Given the description of an element on the screen output the (x, y) to click on. 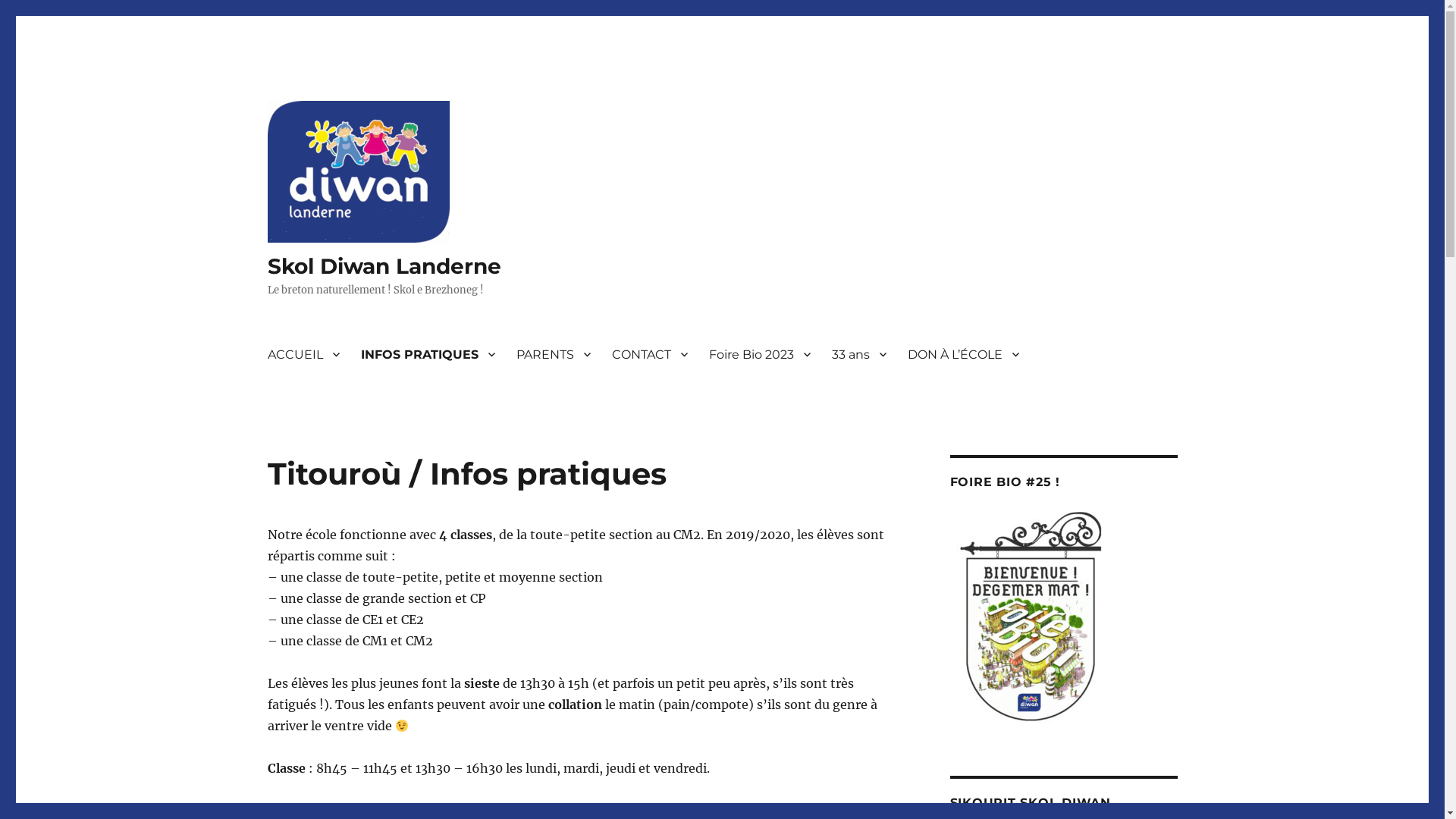
ACCUEIL Element type: text (302, 354)
PARENTS Element type: text (552, 354)
33 ans Element type: text (858, 354)
Foire Bio 2023 Element type: text (758, 354)
Skol Diwan Landerne Element type: text (383, 266)
CONTACT Element type: text (648, 354)
INFOS PRATIQUES Element type: text (427, 354)
